Given the description of an element on the screen output the (x, y) to click on. 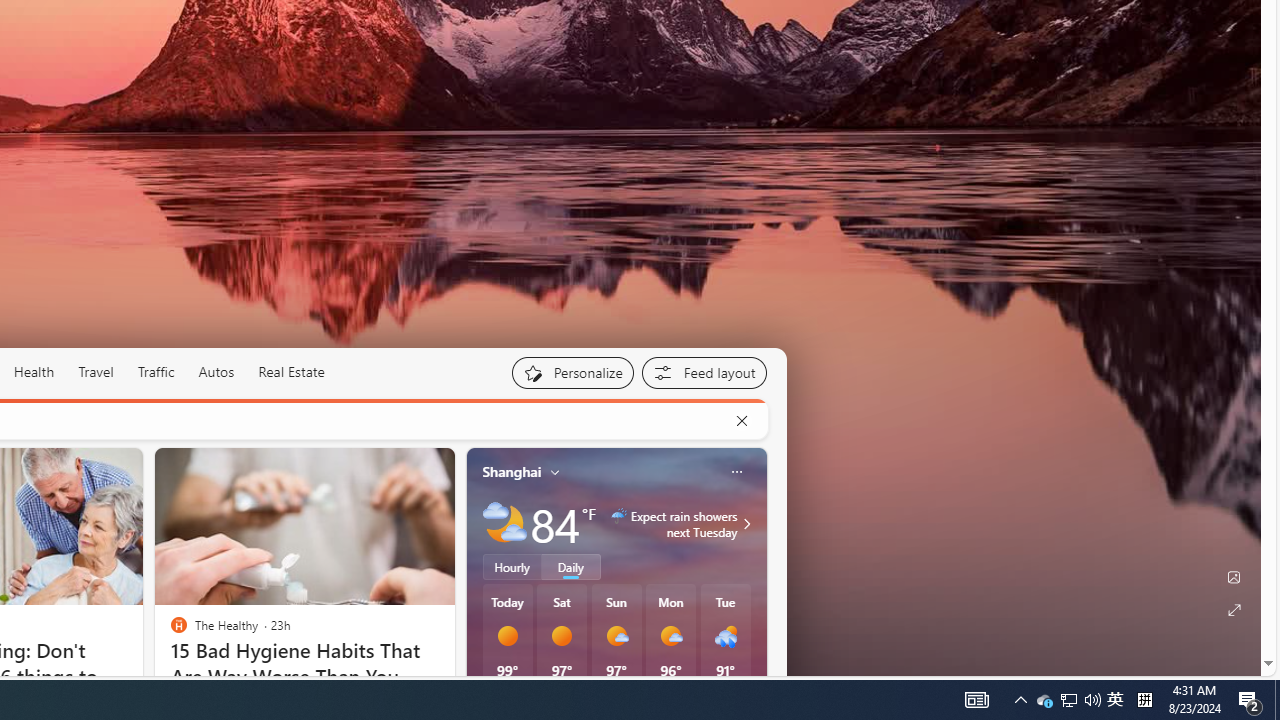
Edit Background (1233, 577)
Personalize your feed" (571, 372)
